Given the description of an element on the screen output the (x, y) to click on. 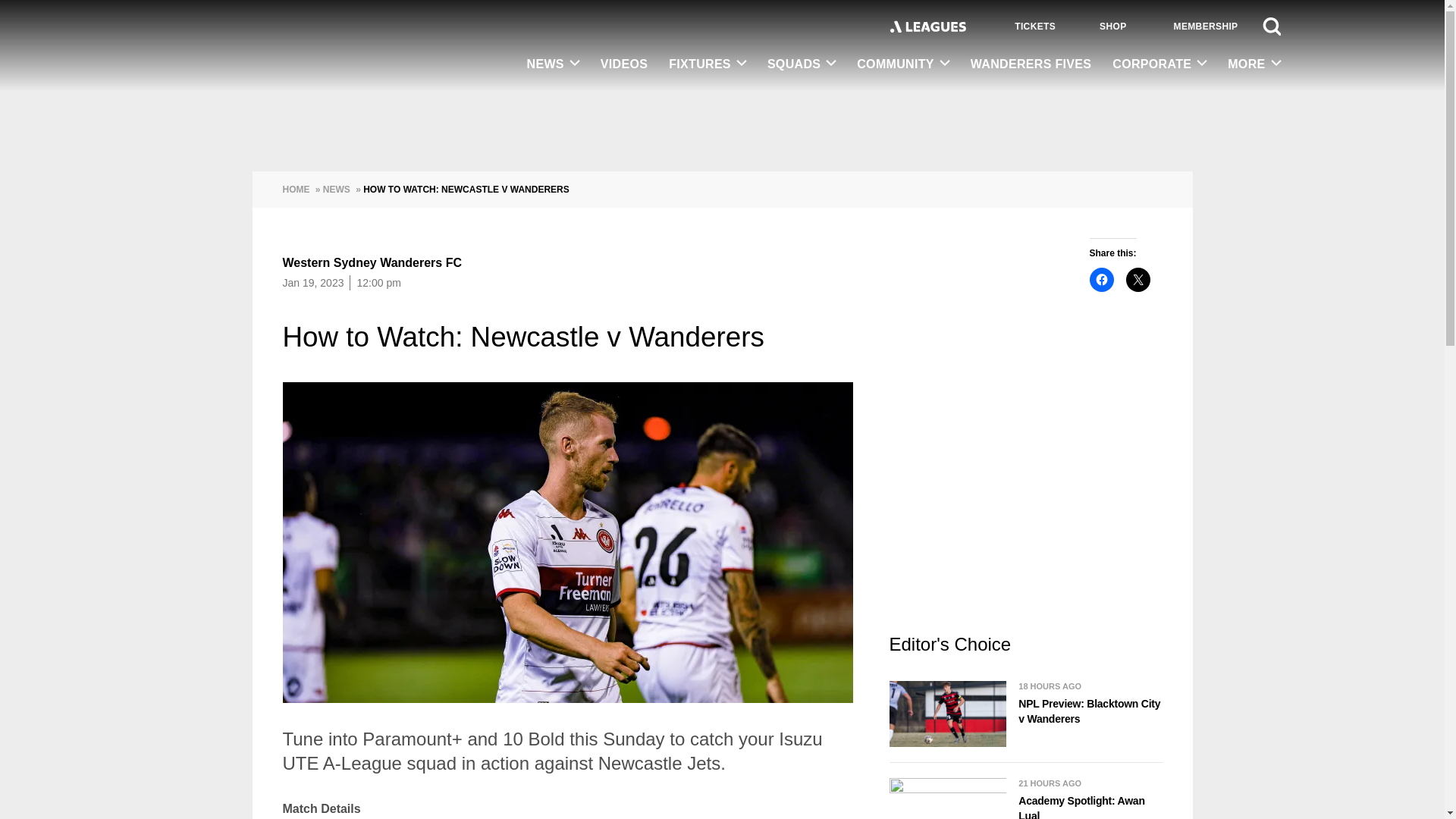
FIXTURES (707, 64)
Click to share on Facebook (1101, 279)
COMMUNITY (902, 64)
NEWS (552, 64)
Click to share on X (1137, 279)
VIDEOS (623, 65)
SQUADS (801, 64)
